Given the description of an element on the screen output the (x, y) to click on. 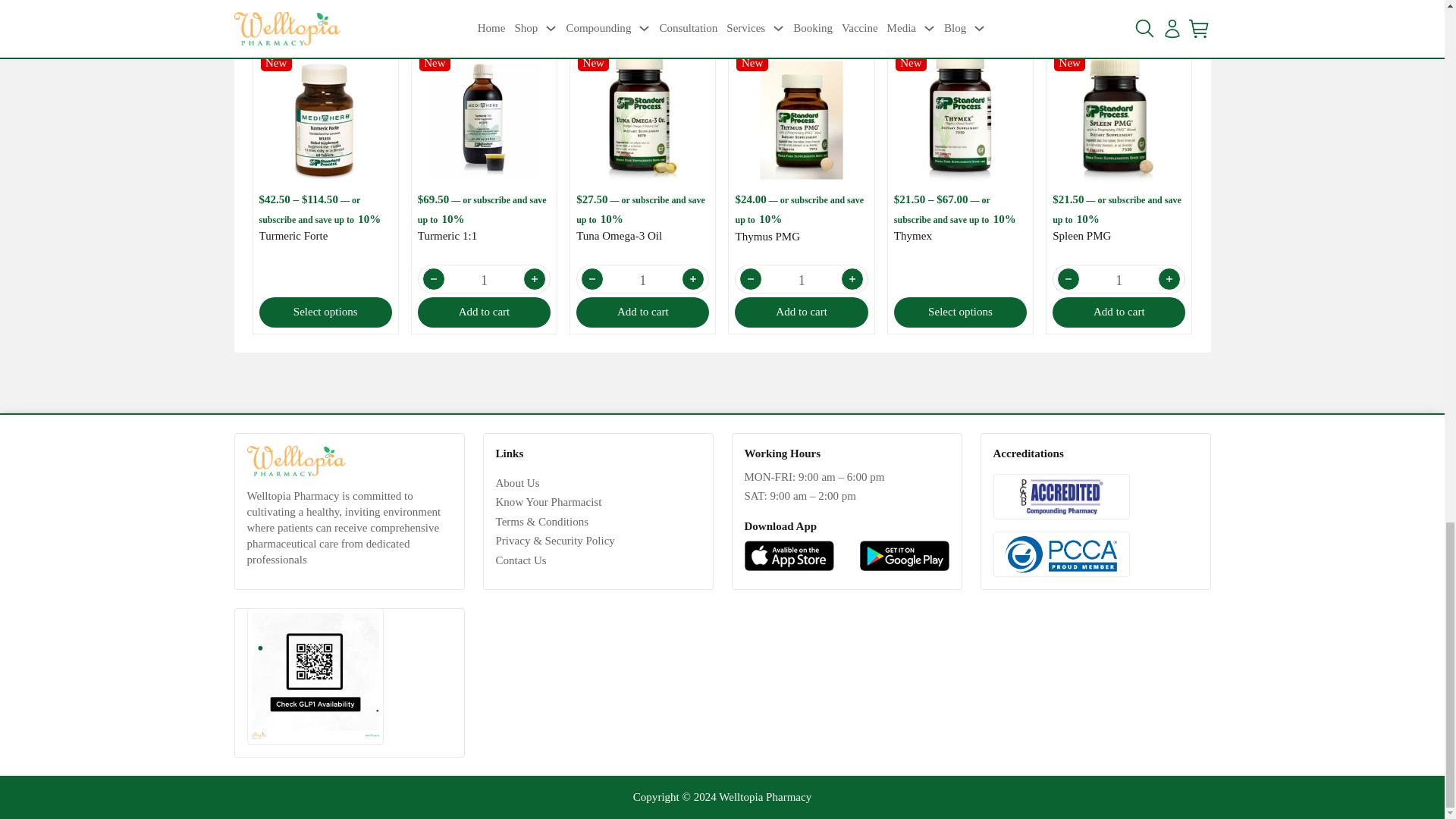
1 (642, 280)
1 (483, 280)
1 (800, 280)
1 (1118, 280)
